Given the description of an element on the screen output the (x, y) to click on. 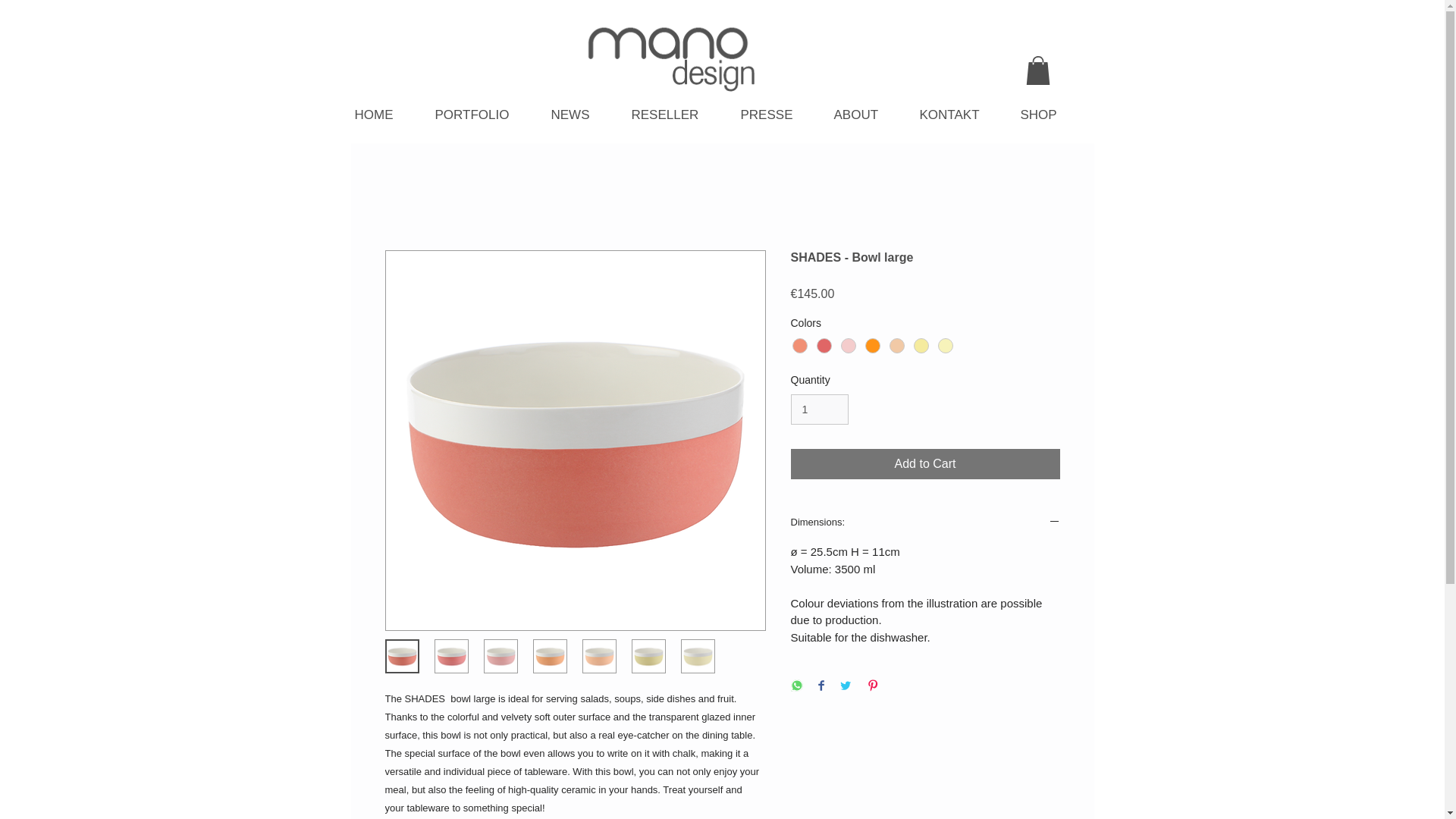
PRESSE (778, 114)
KONTAKT (961, 114)
ABOUT (869, 114)
SHOP (1051, 114)
Dimensions: (924, 522)
HOME (387, 114)
RESELLER (677, 114)
1 (818, 409)
Add to Cart (924, 463)
PORTFOLIO (485, 114)
NEWS (583, 114)
